Given the description of an element on the screen output the (x, y) to click on. 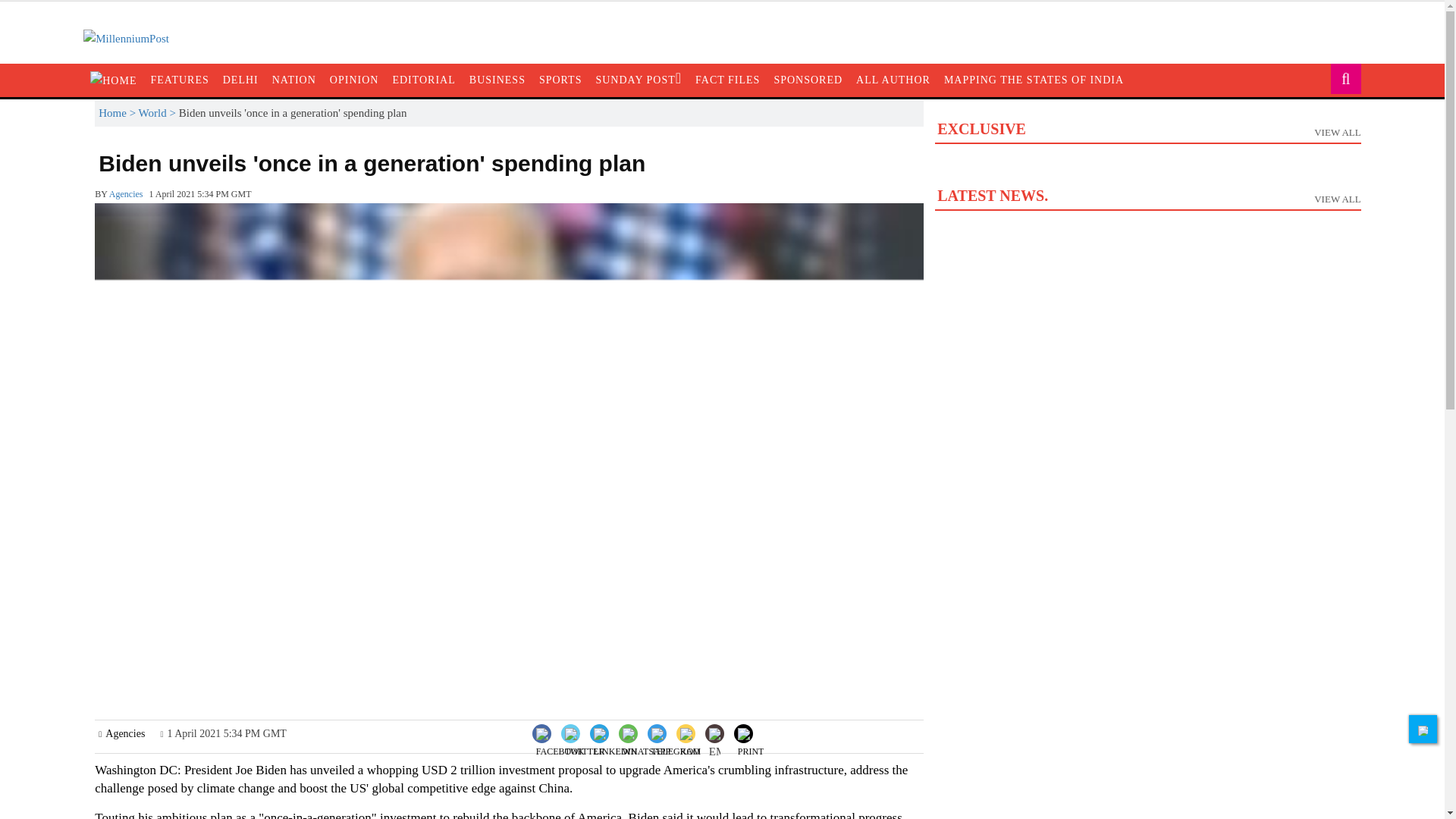
telegram (675, 745)
Print (750, 731)
Twitter (584, 731)
home (113, 80)
FACT FILES (727, 79)
linkedin (615, 745)
EDITORIAL (423, 79)
LinkedIn (614, 731)
Facebook (560, 731)
